Given the description of an element on the screen output the (x, y) to click on. 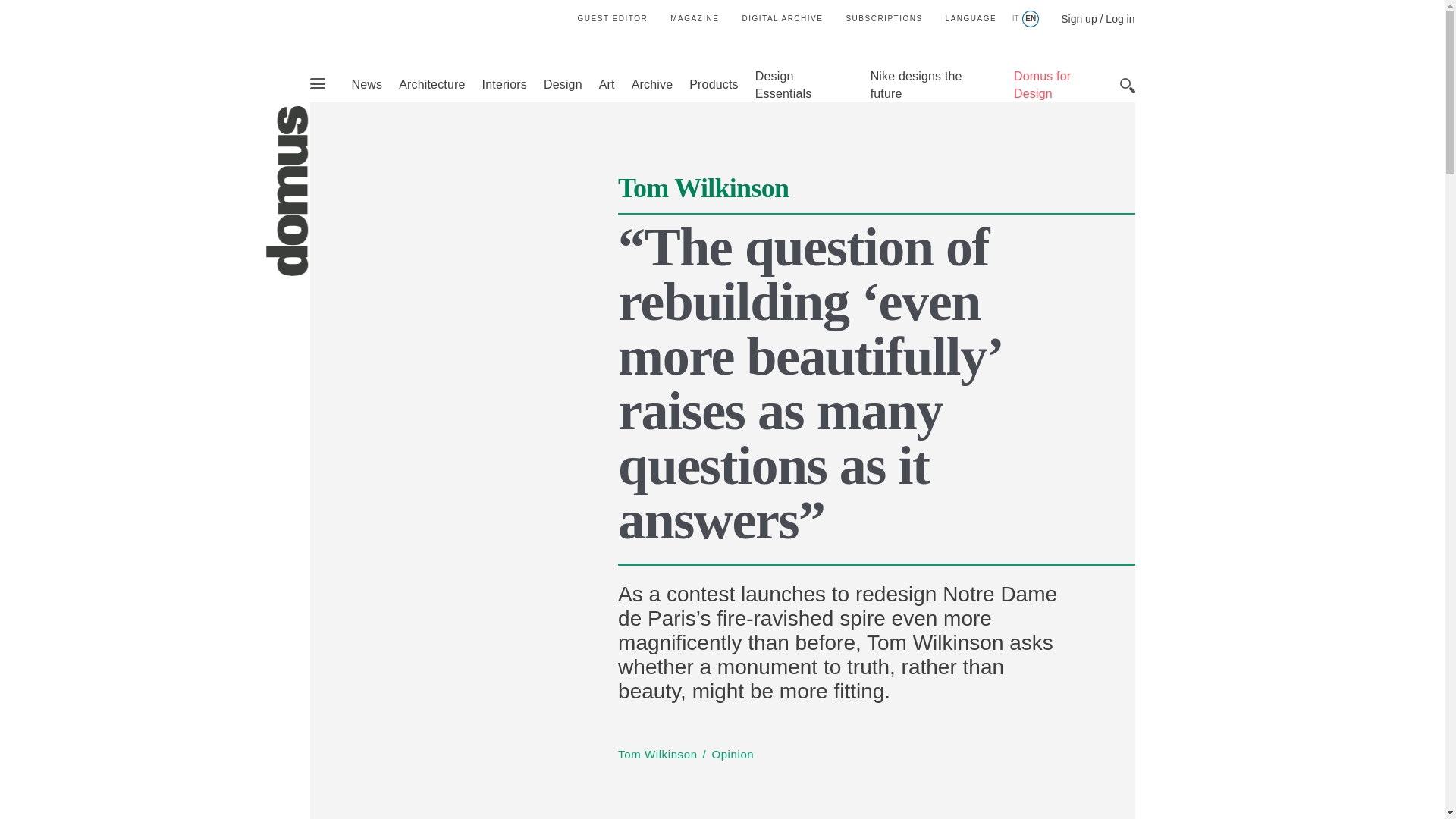
Design Essentials (783, 84)
GUEST EDITOR (612, 18)
Interiors (504, 83)
Nike designs the future (916, 84)
Archive (651, 83)
Products (713, 83)
Art (606, 83)
Architecture (431, 83)
DIGITAL ARCHIVE (781, 18)
SUBSCRIPTIONS (883, 18)
